Given the description of an element on the screen output the (x, y) to click on. 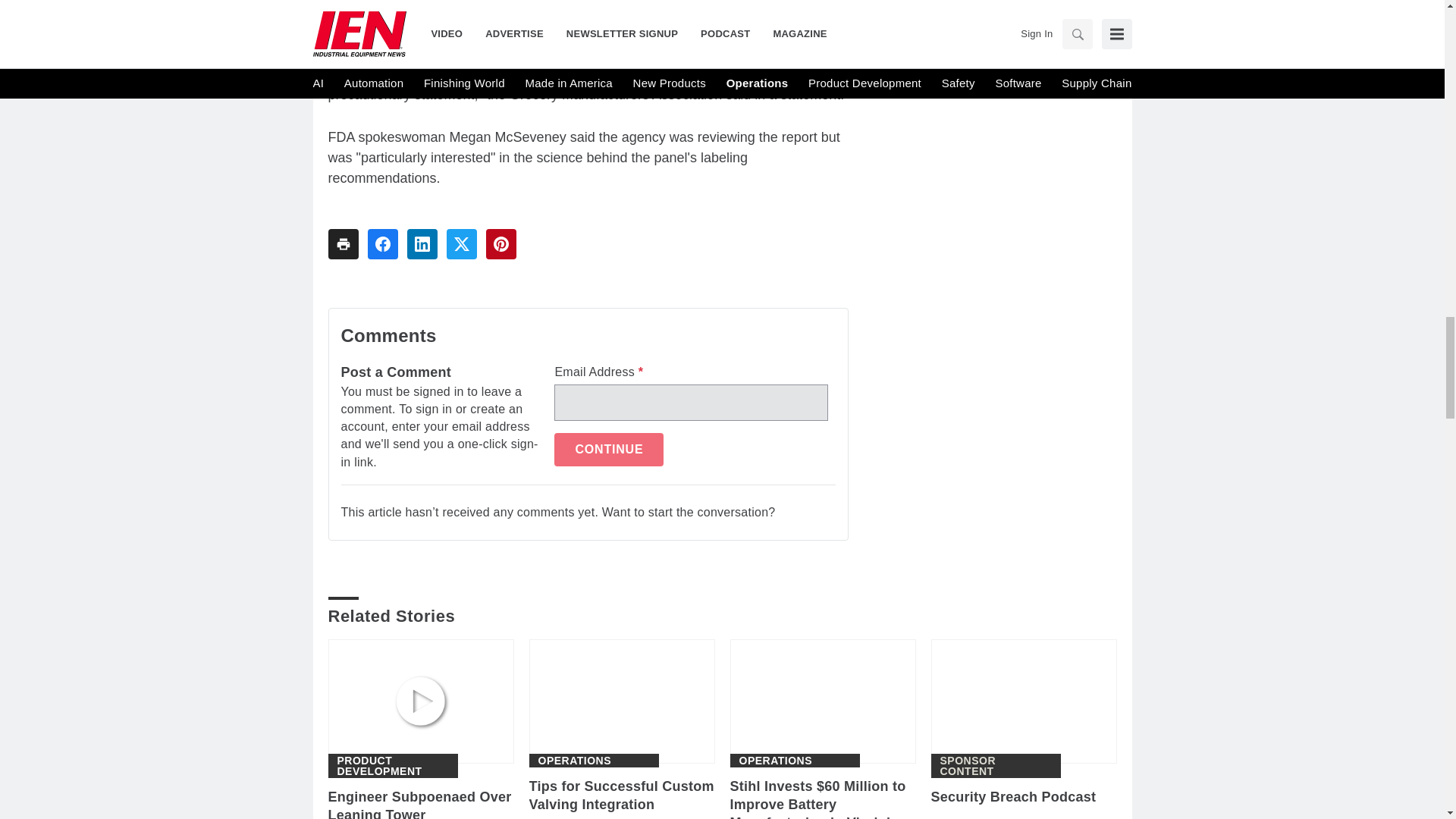
Share To print (342, 244)
Share To twitter (460, 244)
Share To pinterest (499, 244)
Share To facebook (381, 244)
Share To linkedin (421, 244)
